Given the description of an element on the screen output the (x, y) to click on. 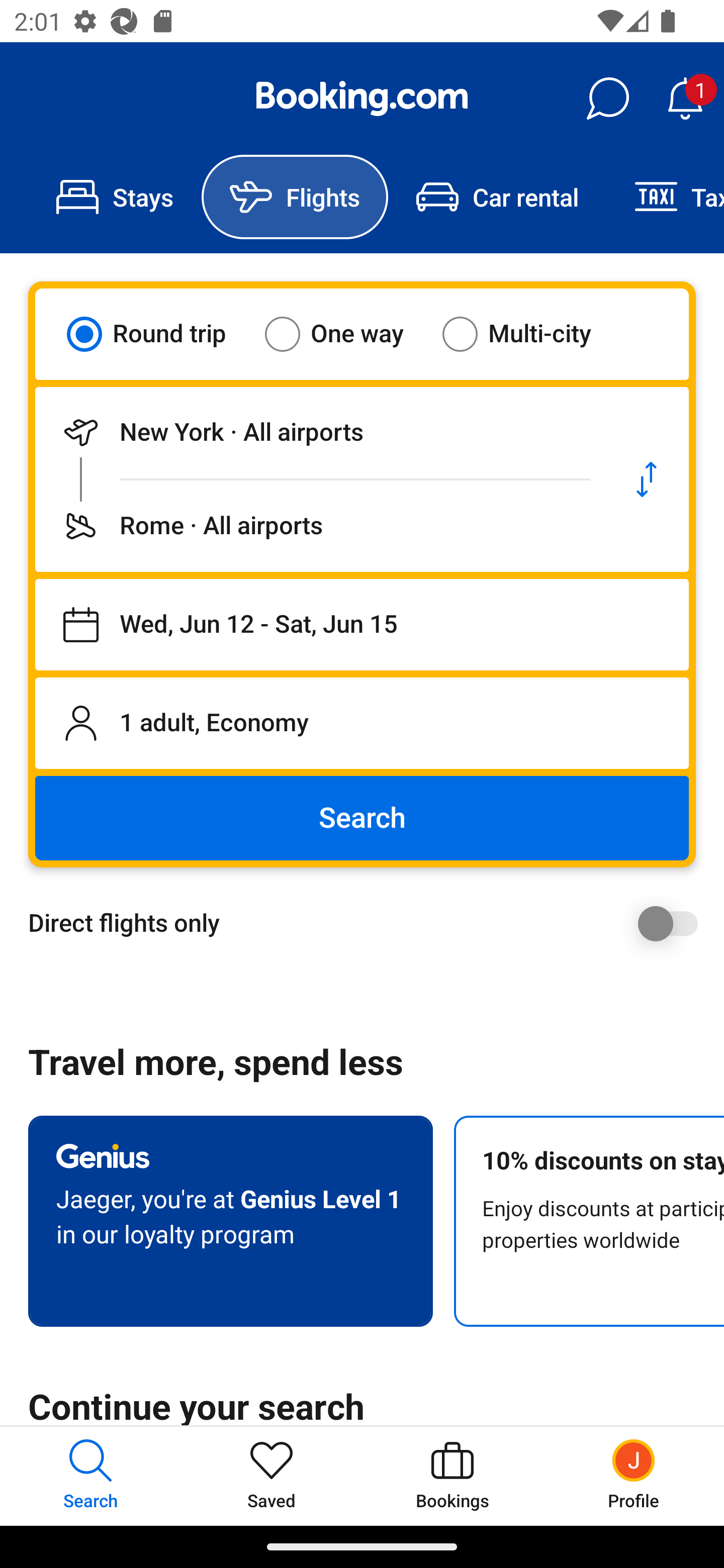
Messages (607, 98)
Notifications (685, 98)
Stays (114, 197)
Flights (294, 197)
Car rental (497, 197)
Taxi (665, 197)
One way (346, 333)
Multi-city (528, 333)
Departing from New York · All airports (319, 432)
Swap departure location and destination (646, 479)
Flying to Rome · All airports (319, 525)
Departing on Wed, Jun 12, returning on Sat, Jun 15 (361, 624)
1 adult, Economy (361, 722)
Search (361, 818)
Direct flights only (369, 923)
Saved (271, 1475)
Bookings (452, 1475)
Profile (633, 1475)
